Given the description of an element on the screen output the (x, y) to click on. 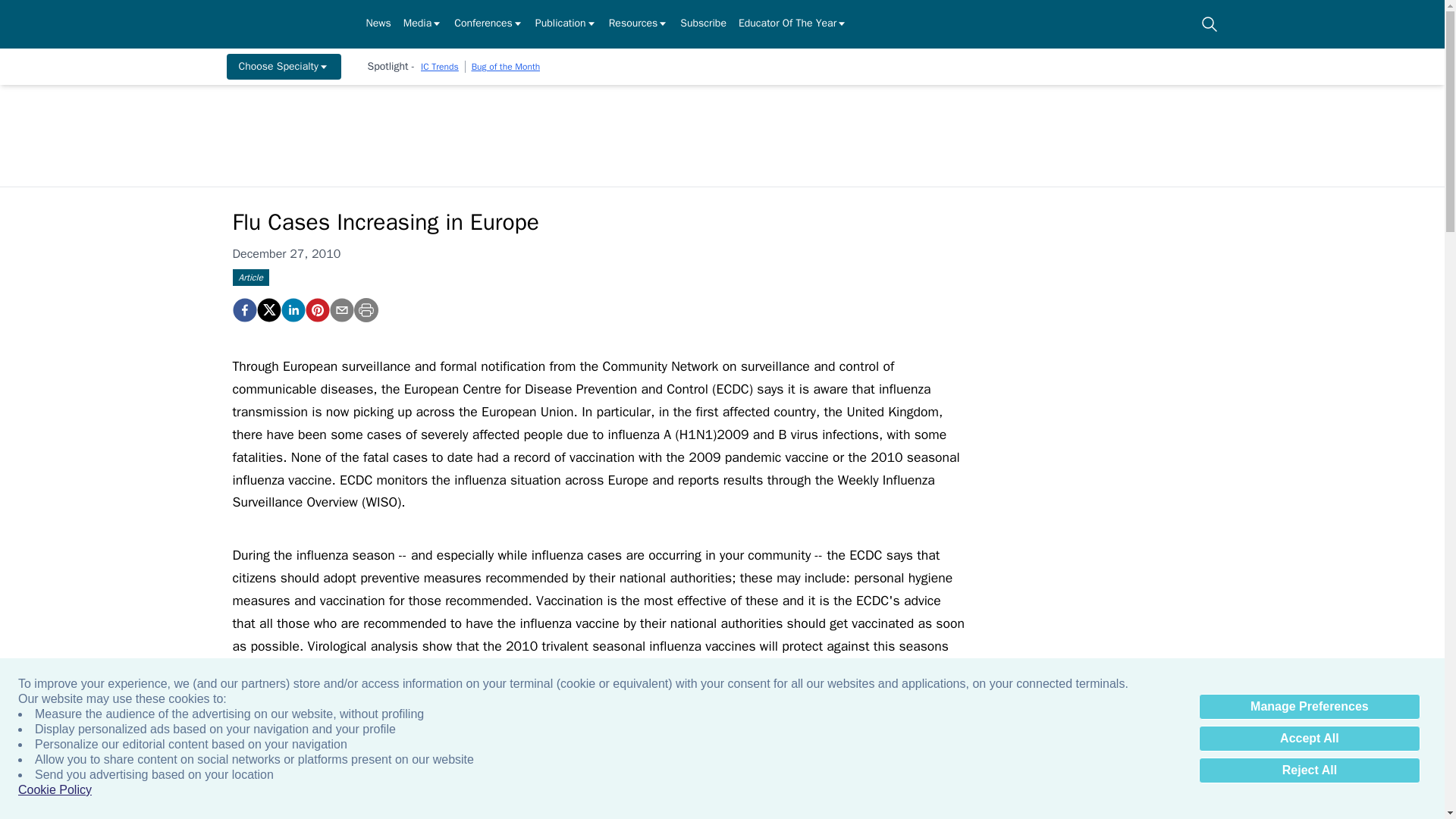
Conferences (488, 23)
Subscribe (702, 23)
Flu Cases Increasing in Europe (243, 310)
Manage Preferences (1309, 706)
Reject All (1309, 769)
Educator Of The Year (792, 23)
Resources (638, 23)
Accept All (1309, 738)
Flu Cases Increasing in Europe (316, 310)
Cookie Policy (54, 789)
Publication (565, 23)
Media (422, 23)
News (377, 23)
